Given the description of an element on the screen output the (x, y) to click on. 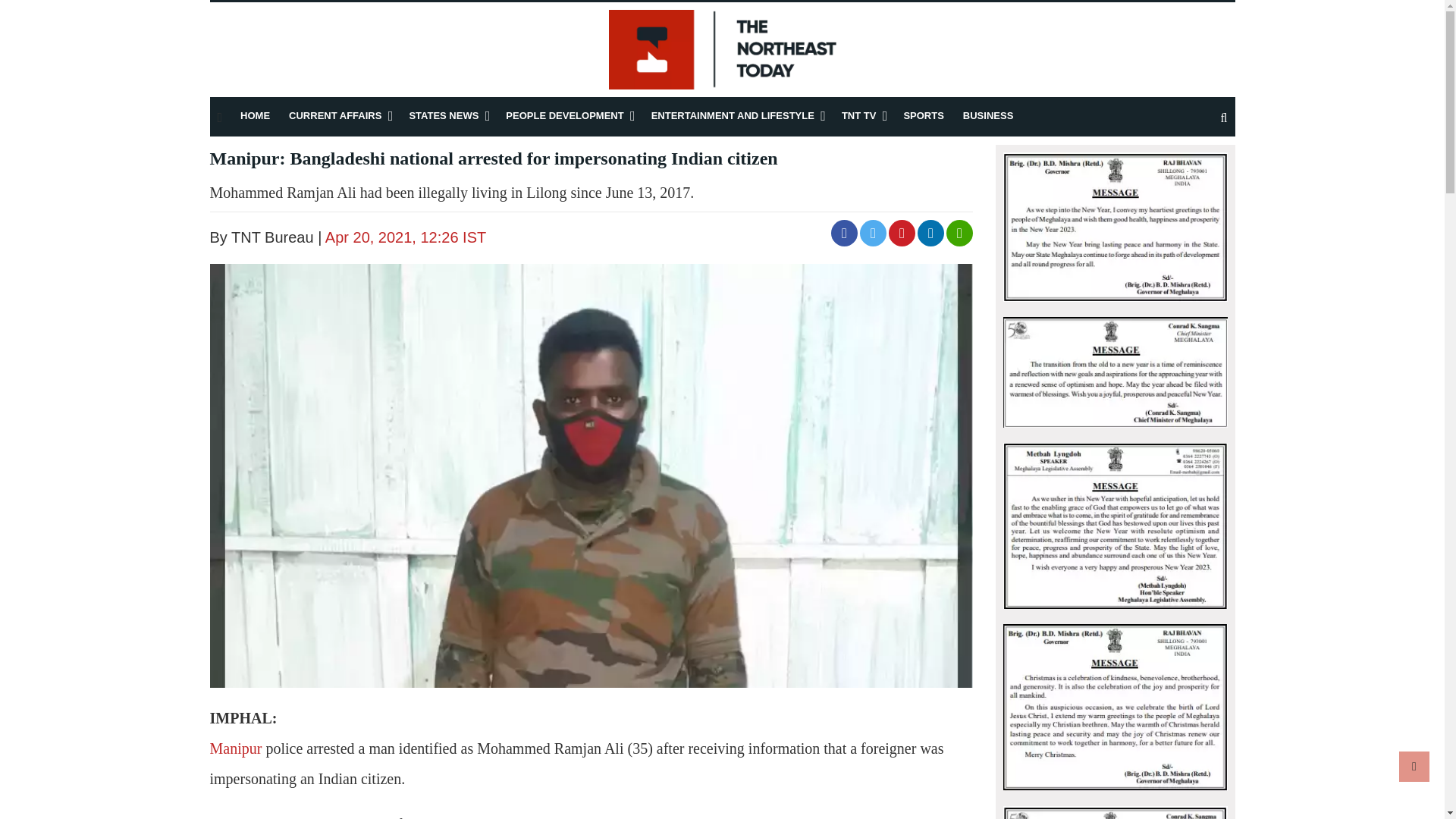
BUSINESS (987, 115)
HOME (254, 115)
ENTERTAINMENT AND LIFESTYLE (731, 115)
CURRENT AFFAIRS (334, 115)
SPORTS (922, 115)
PEOPLE DEVELOPMENT (564, 115)
TNT TV (858, 115)
STATES NEWS (444, 115)
